Given the description of an element on the screen output the (x, y) to click on. 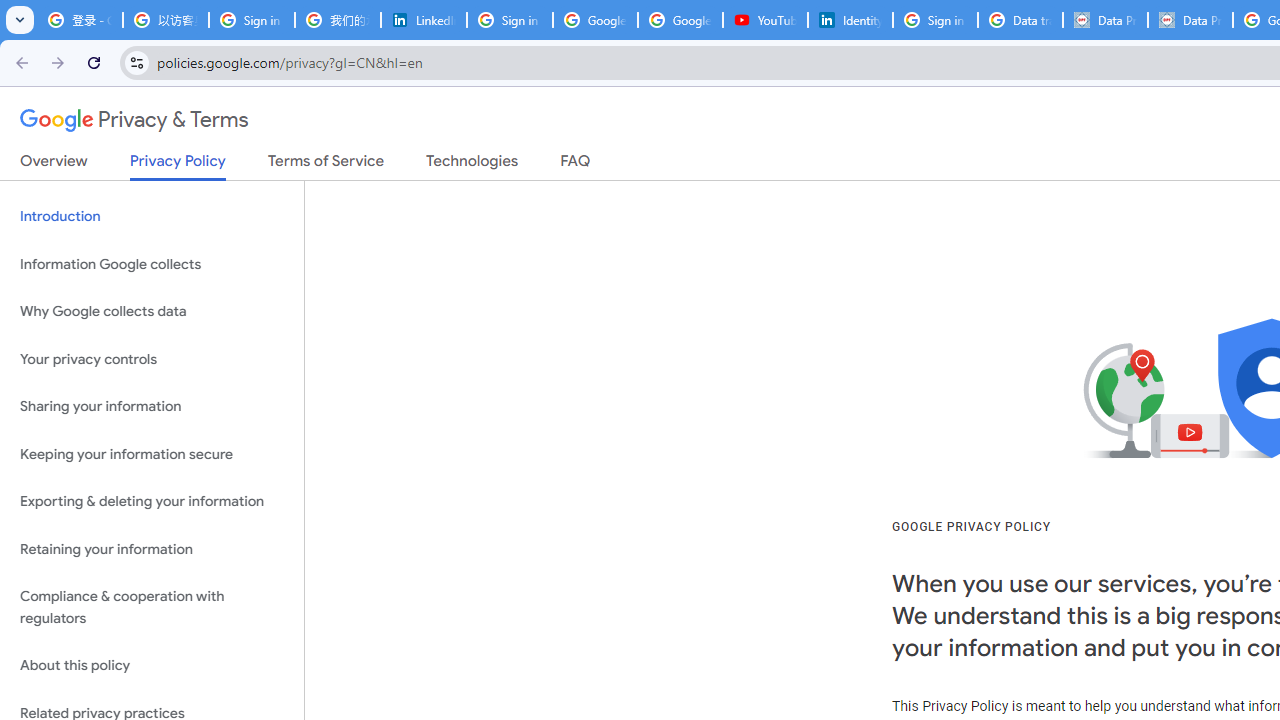
Sharing your information (152, 407)
Retaining your information (152, 548)
About this policy (152, 666)
Information Google collects (152, 263)
Compliance & cooperation with regulators (152, 607)
Exporting & deleting your information (152, 502)
